Given the description of an element on the screen output the (x, y) to click on. 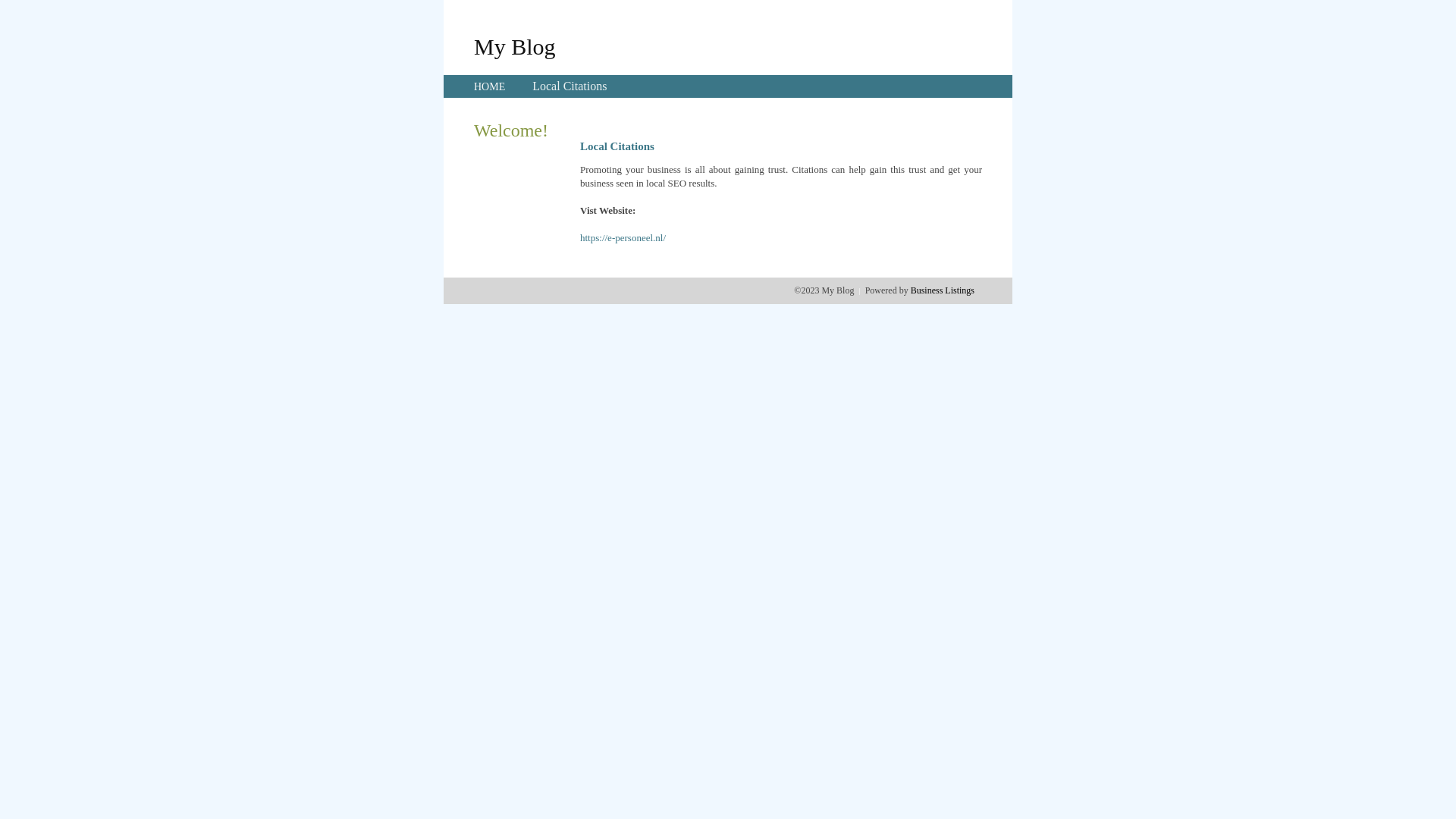
HOME Element type: text (489, 86)
Local Citations Element type: text (569, 85)
My Blog Element type: text (514, 46)
https://e-personeel.nl/ Element type: text (622, 237)
Business Listings Element type: text (942, 290)
